Given the description of an element on the screen output the (x, y) to click on. 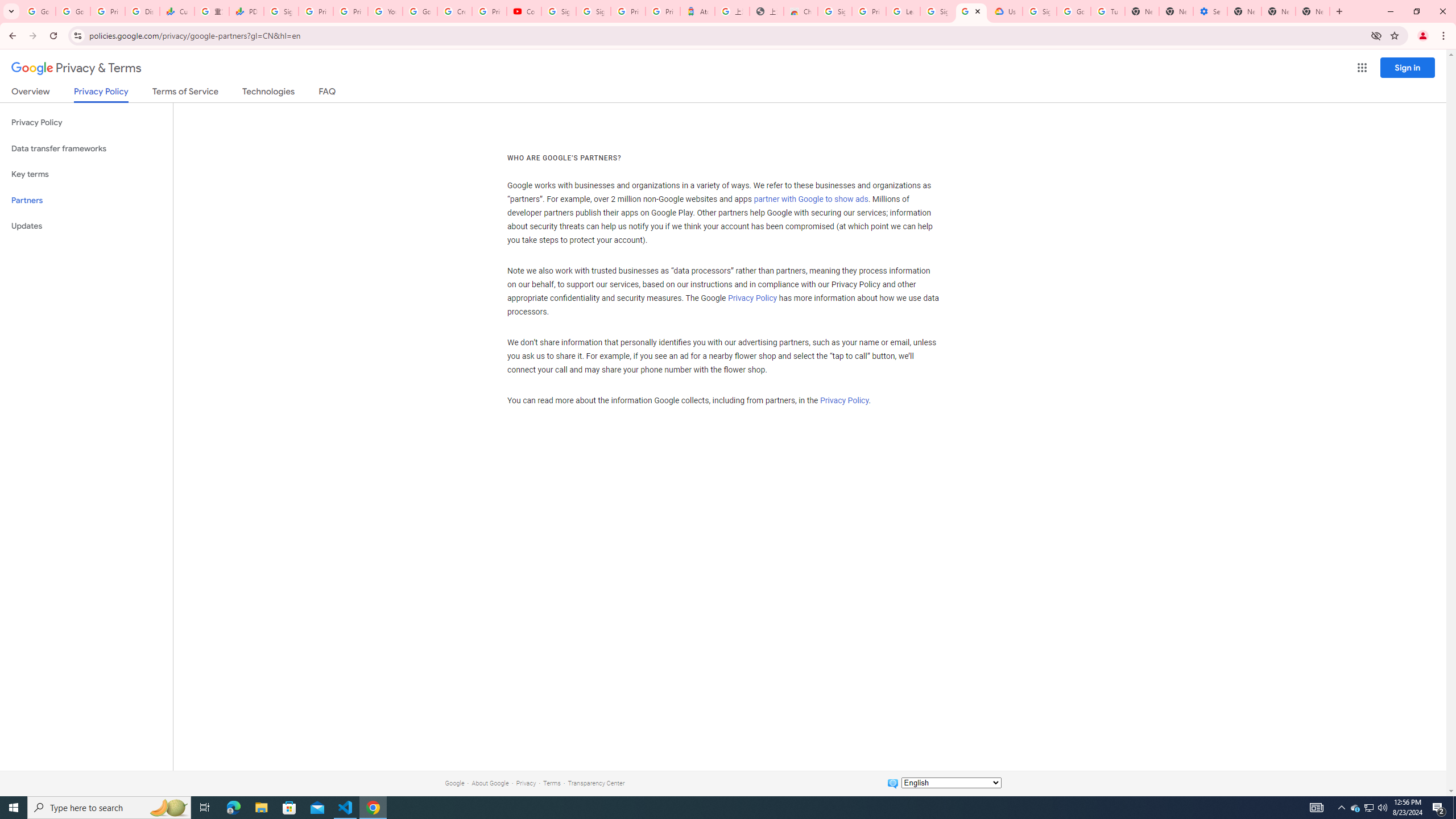
Privacy Checkup (349, 11)
New Tab (1243, 11)
Updates (86, 225)
Privacy (525, 783)
partner with Google to show ads (810, 199)
Sign in - Google Accounts (834, 11)
Key terms (86, 174)
Sign in - Google Accounts (1039, 11)
Content Creator Programs & Opportunities - YouTube Creators (524, 11)
